Given the description of an element on the screen output the (x, y) to click on. 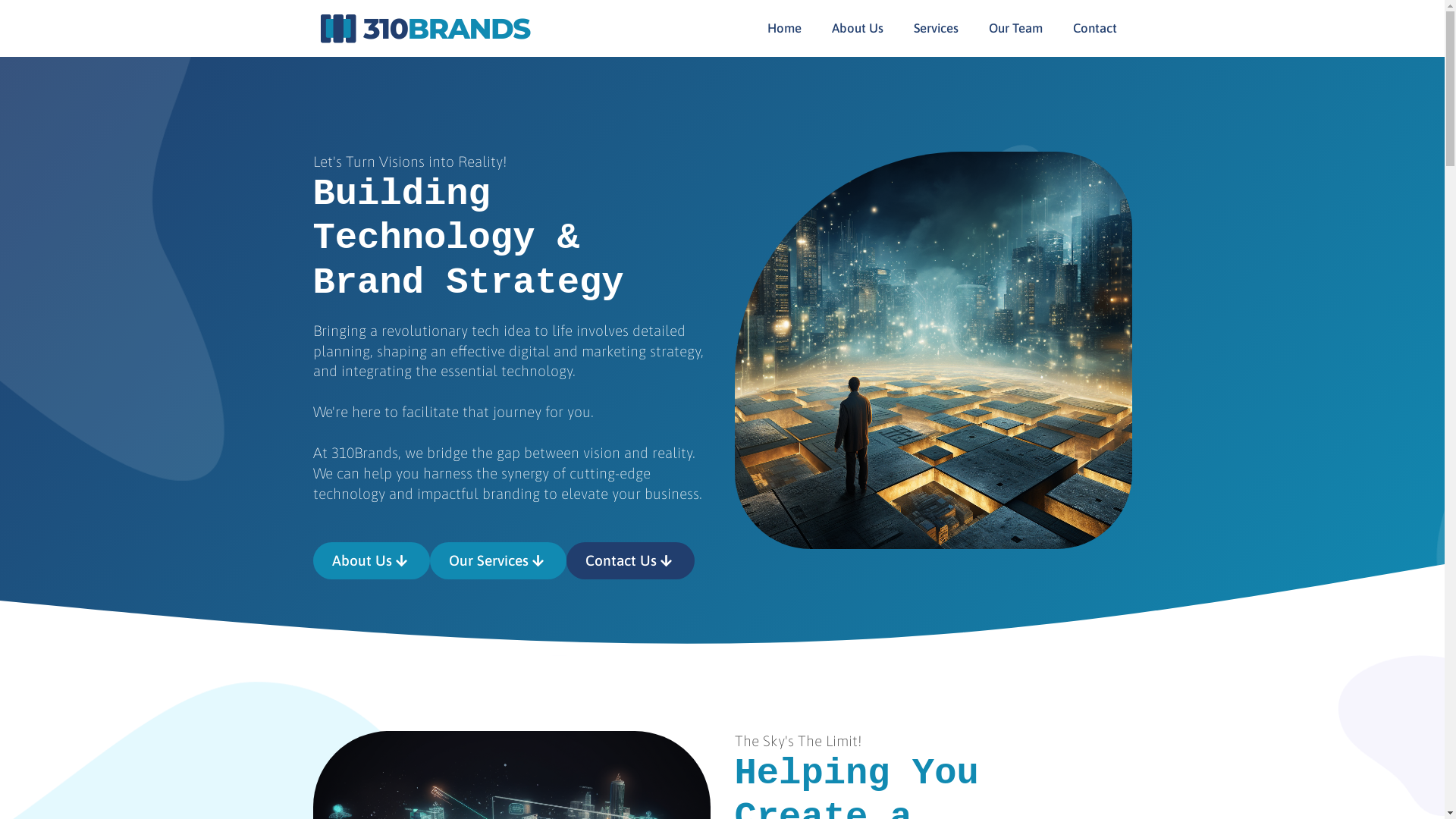
Contact Us Element type: text (630, 560)
Our Services Element type: text (497, 560)
About Us Element type: text (856, 28)
Services Element type: text (934, 28)
Our Team Element type: text (1015, 28)
About Us Element type: text (370, 560)
Home Element type: text (784, 28)
Contact Element type: text (1094, 28)
